Given the description of an element on the screen output the (x, y) to click on. 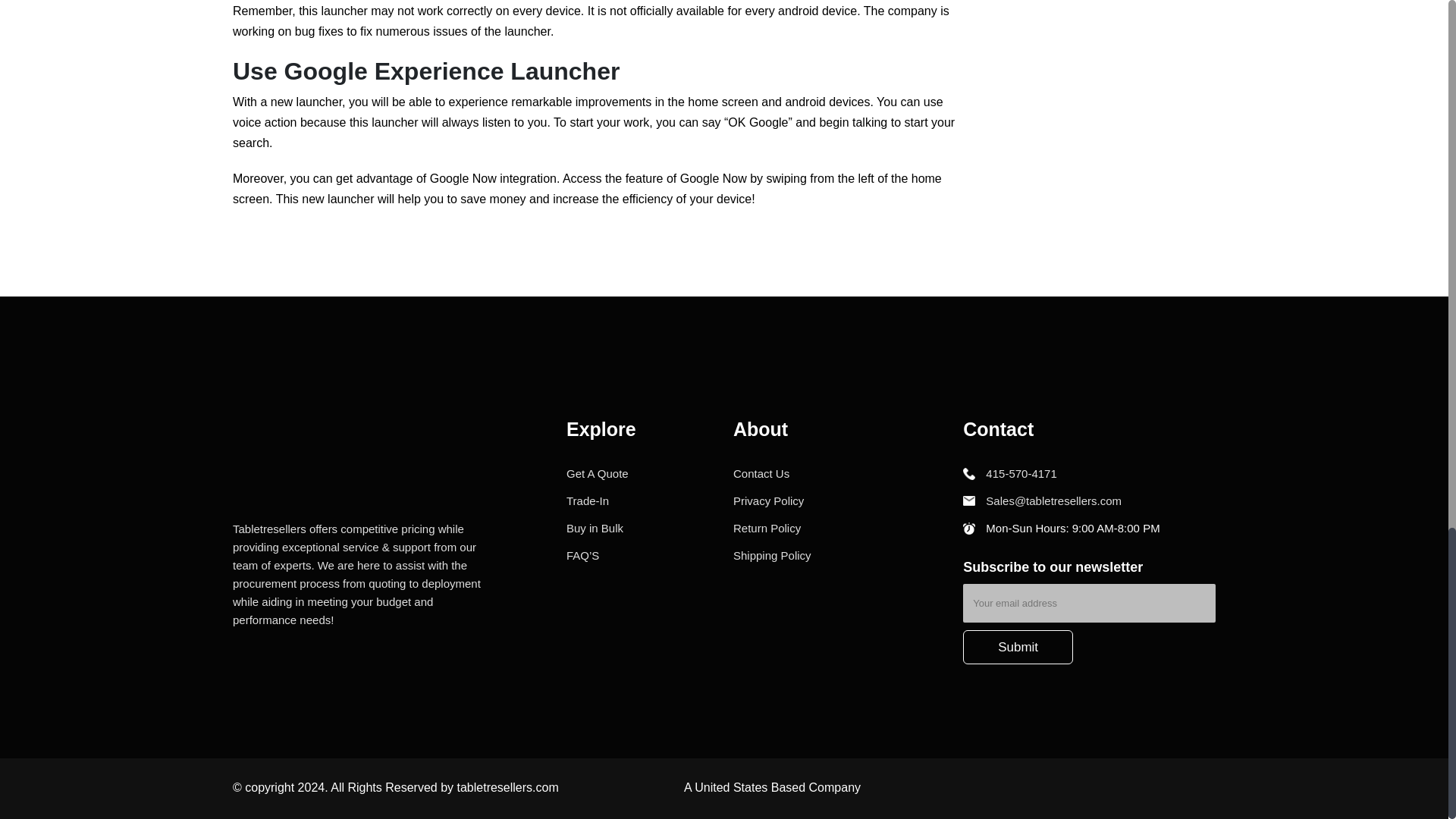
415-570-4171 (1009, 472)
Shipping Policy (771, 554)
Privacy Policy (768, 500)
Buy in Bulk (594, 527)
Submit (1017, 647)
Mon-Sun Hours: 9:00 AM-8:00 PM (1060, 527)
Trade-In (587, 500)
Submit (1017, 647)
Get A Quote (597, 472)
Return Policy (766, 527)
